Given the description of an element on the screen output the (x, y) to click on. 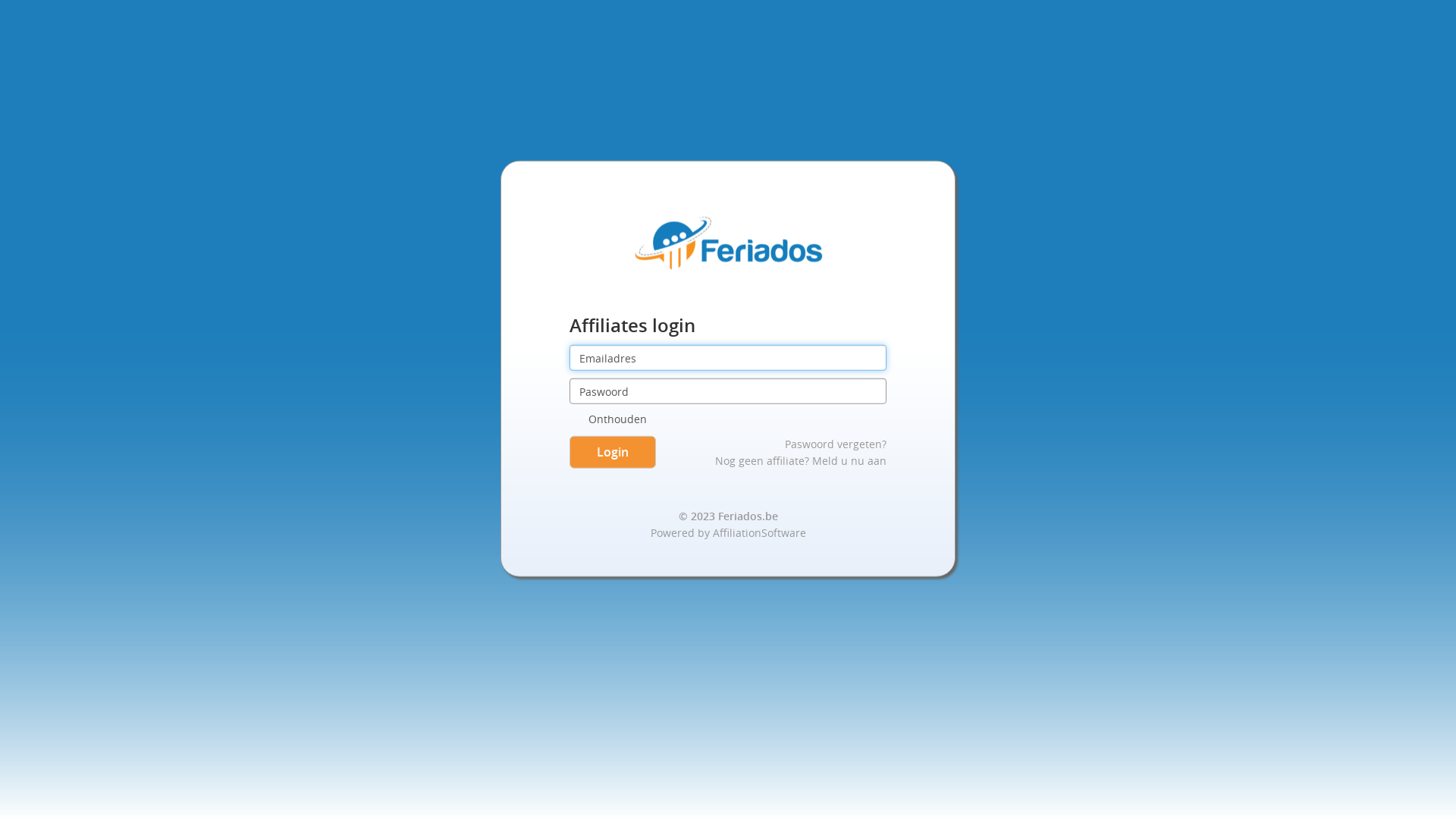
Powered by AffiliationSoftware Element type: text (728, 532)
Paswoord vergeten? Element type: text (835, 443)
Login Element type: text (612, 452)
Nog geen affiliate? Meld u nu aan Element type: text (800, 460)
